Given the description of an element on the screen output the (x, y) to click on. 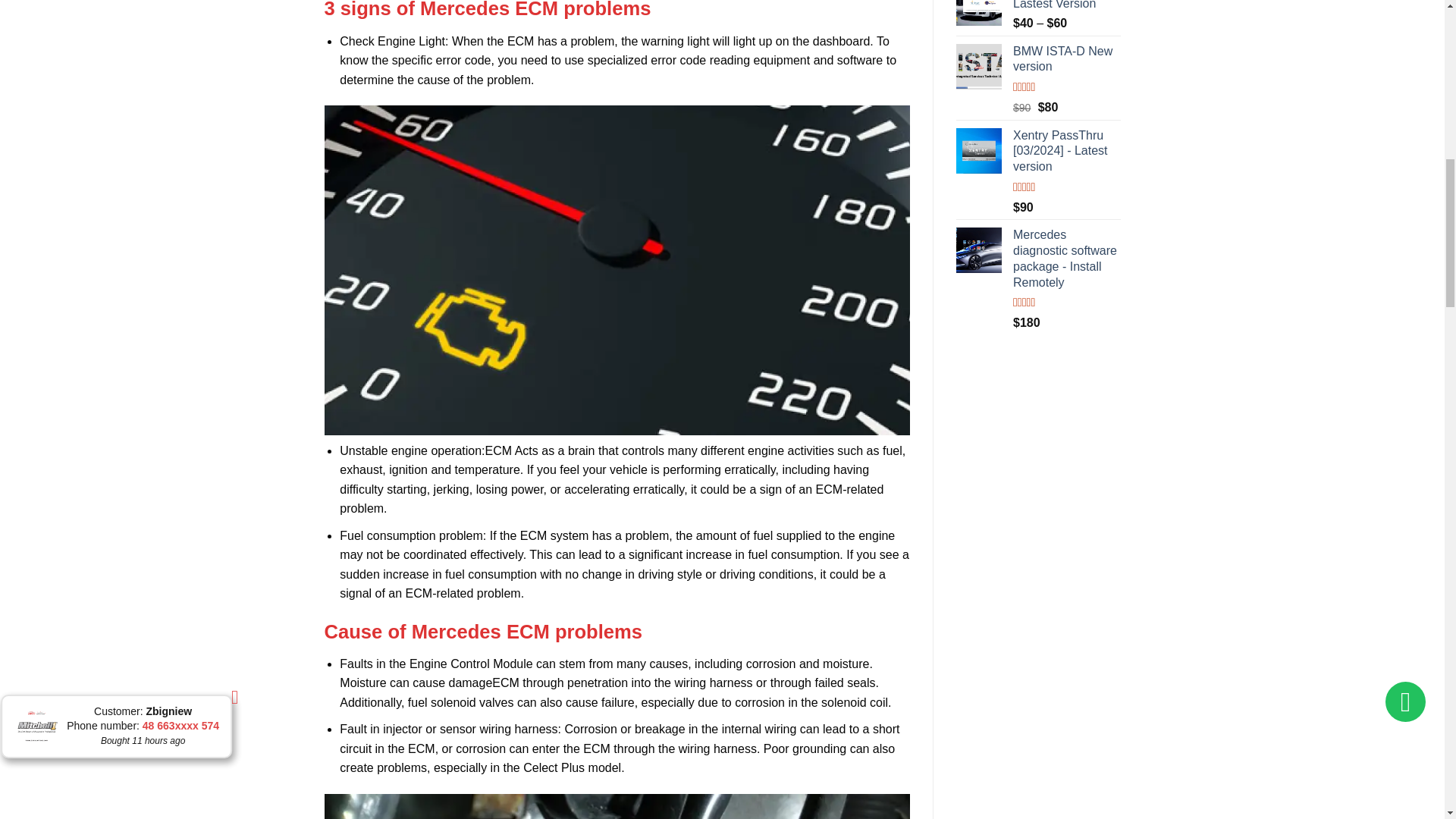
3 Symptons Of A Mercedes Ecm Problems And How To Fix 2 (617, 806)
